Given the description of an element on the screen output the (x, y) to click on. 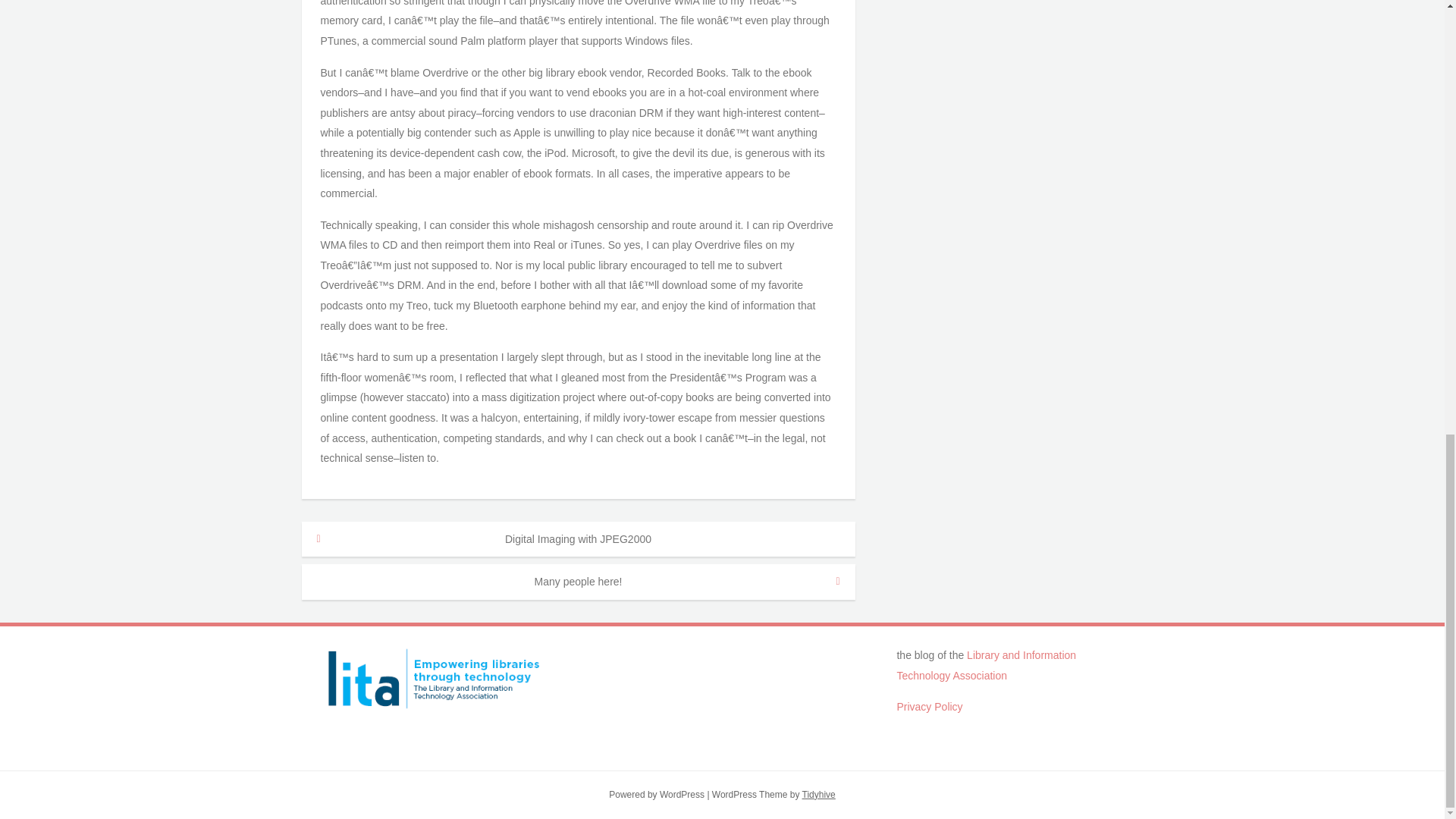
Library and Information Technology Association (985, 665)
Tidyhive (818, 794)
Digital Imaging with JPEG2000 (578, 539)
Many people here! (578, 581)
Privacy Policy (929, 706)
